Given the description of an element on the screen output the (x, y) to click on. 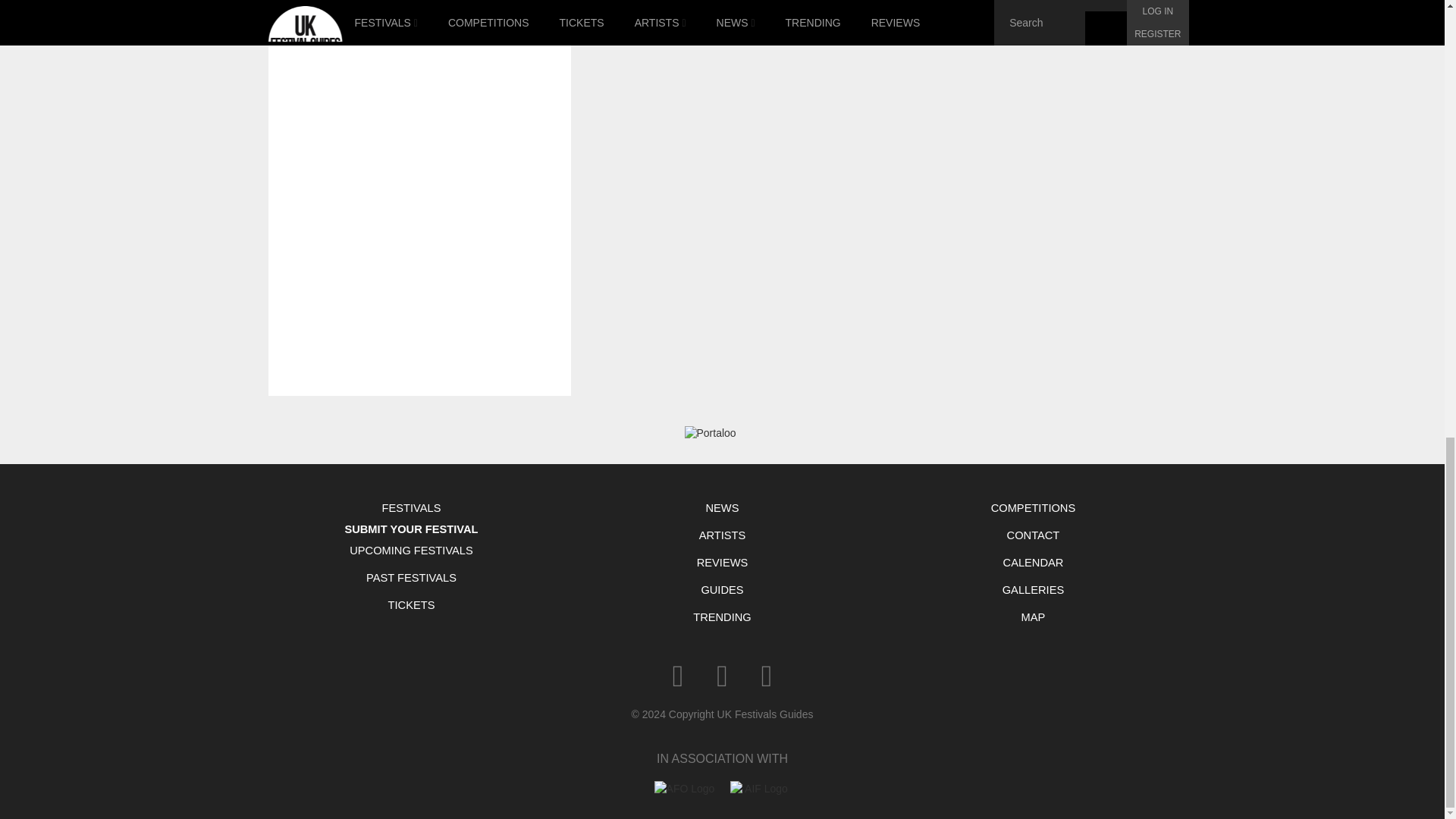
Past Festivals (410, 577)
Submit your Festival (410, 528)
CALENDAR (1032, 562)
Festivals (410, 507)
SUBMIT YOUR FESTIVAL (410, 528)
PAST FESTIVALS (410, 577)
ARTISTS (722, 534)
UPCOMING FESTIVALS (410, 550)
GUIDES (722, 589)
GALLERIES (1032, 589)
